Given the description of an element on the screen output the (x, y) to click on. 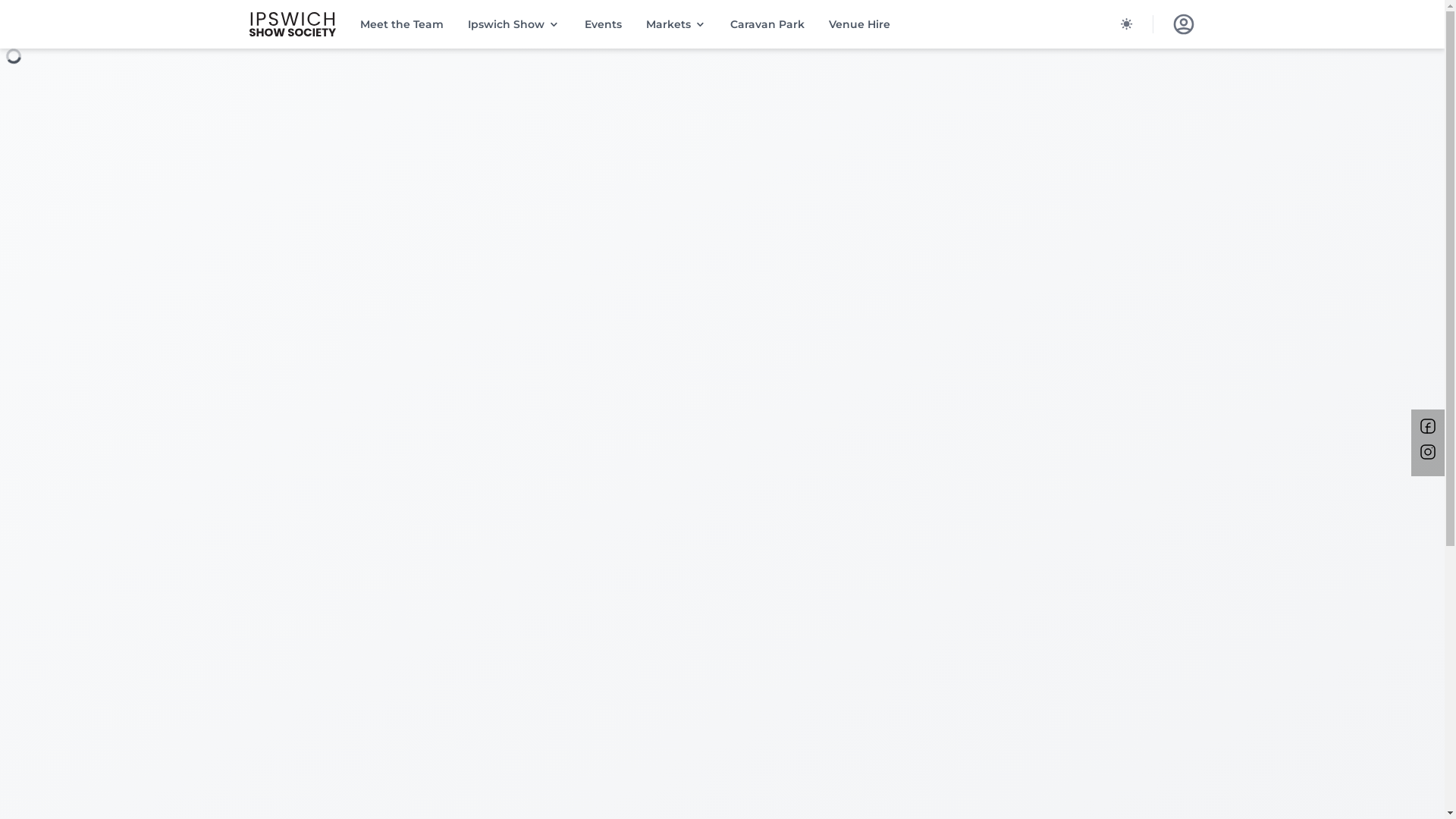
Meet the Team Element type: text (401, 23)
Log In Element type: hover (1182, 24)
Events Element type: text (602, 23)
Caravan Park Element type: text (767, 23)
Venue Hire Element type: text (859, 23)
